Given the description of an element on the screen output the (x, y) to click on. 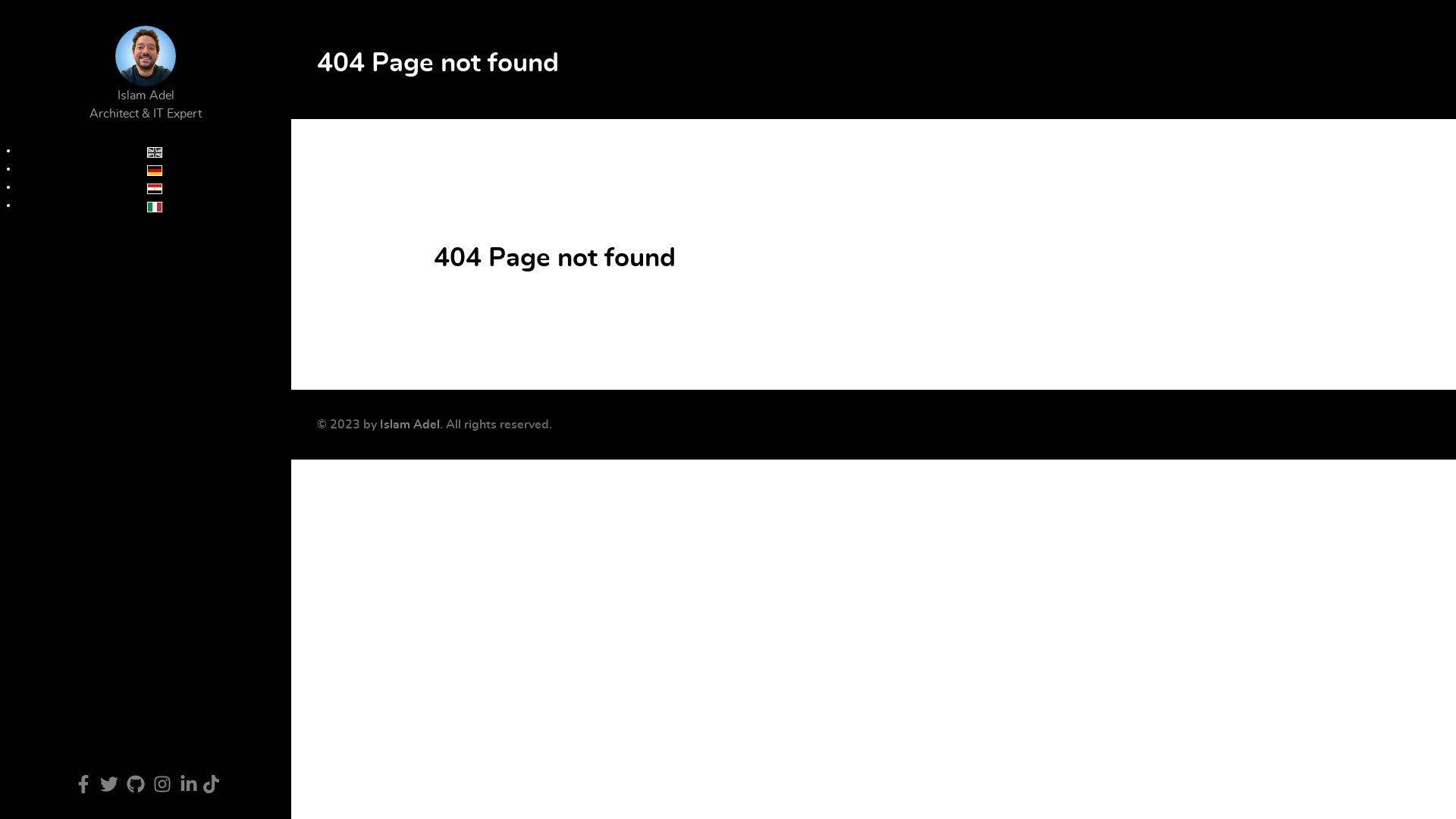
Italiano Element type: hover (154, 206)
TikTok Element type: hover (211, 784)
English (UK) Element type: hover (154, 152)
Deutsch Element type: hover (154, 170)
